Given the description of an element on the screen output the (x, y) to click on. 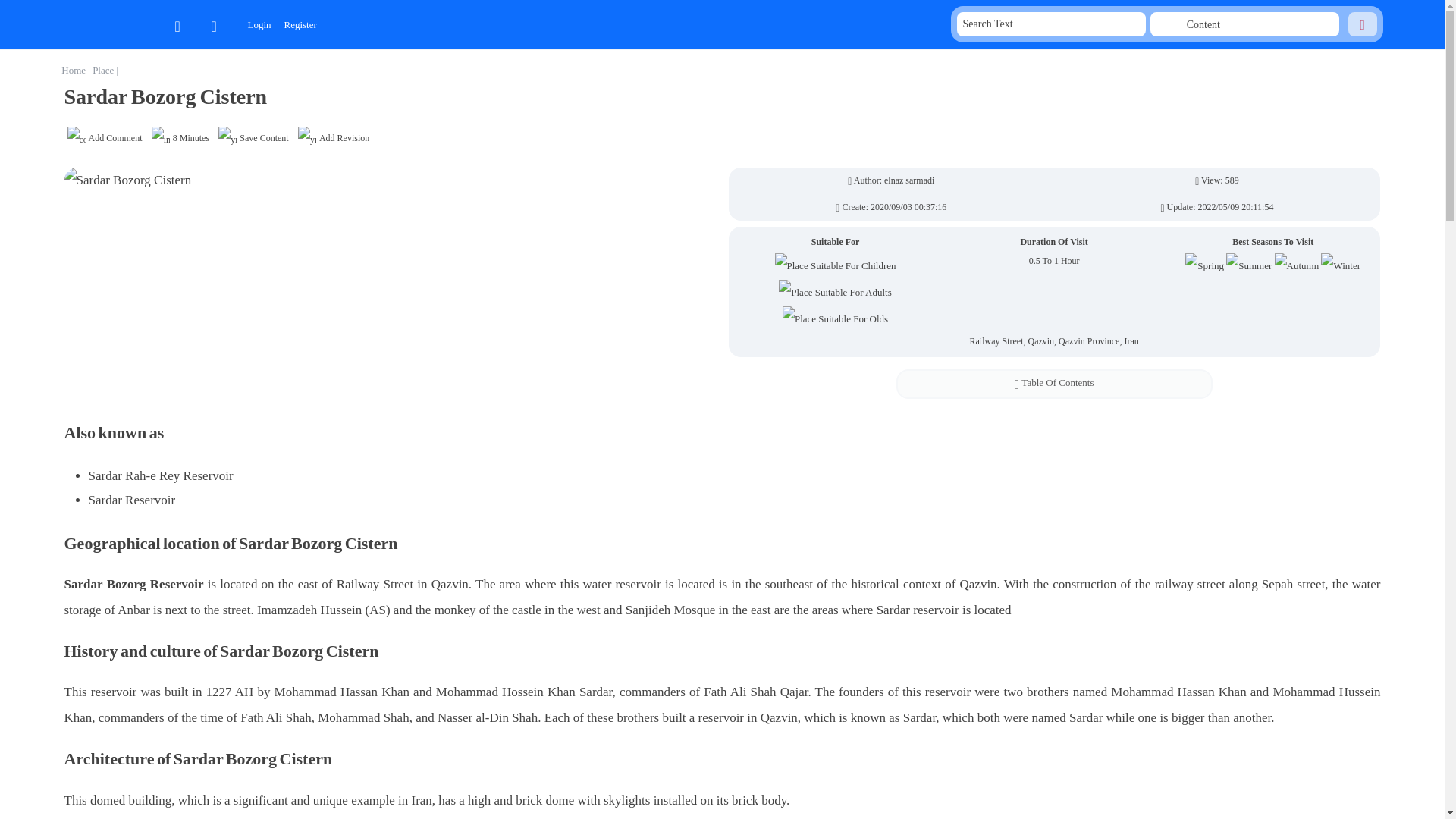
Place Suitable For Adults (834, 292)
Winter (1339, 266)
elnaz sarmadi (908, 180)
Add Comment (104, 138)
Save Content (253, 138)
Place (104, 70)
Autumn (1297, 266)
Table Of Contents (1054, 383)
Time To Read (180, 138)
Summer (1248, 266)
Add Revision (333, 138)
8 Minutes (180, 138)
Home (74, 70)
Place Suitable For Children (835, 266)
Spring (1204, 266)
